Given the description of an element on the screen output the (x, y) to click on. 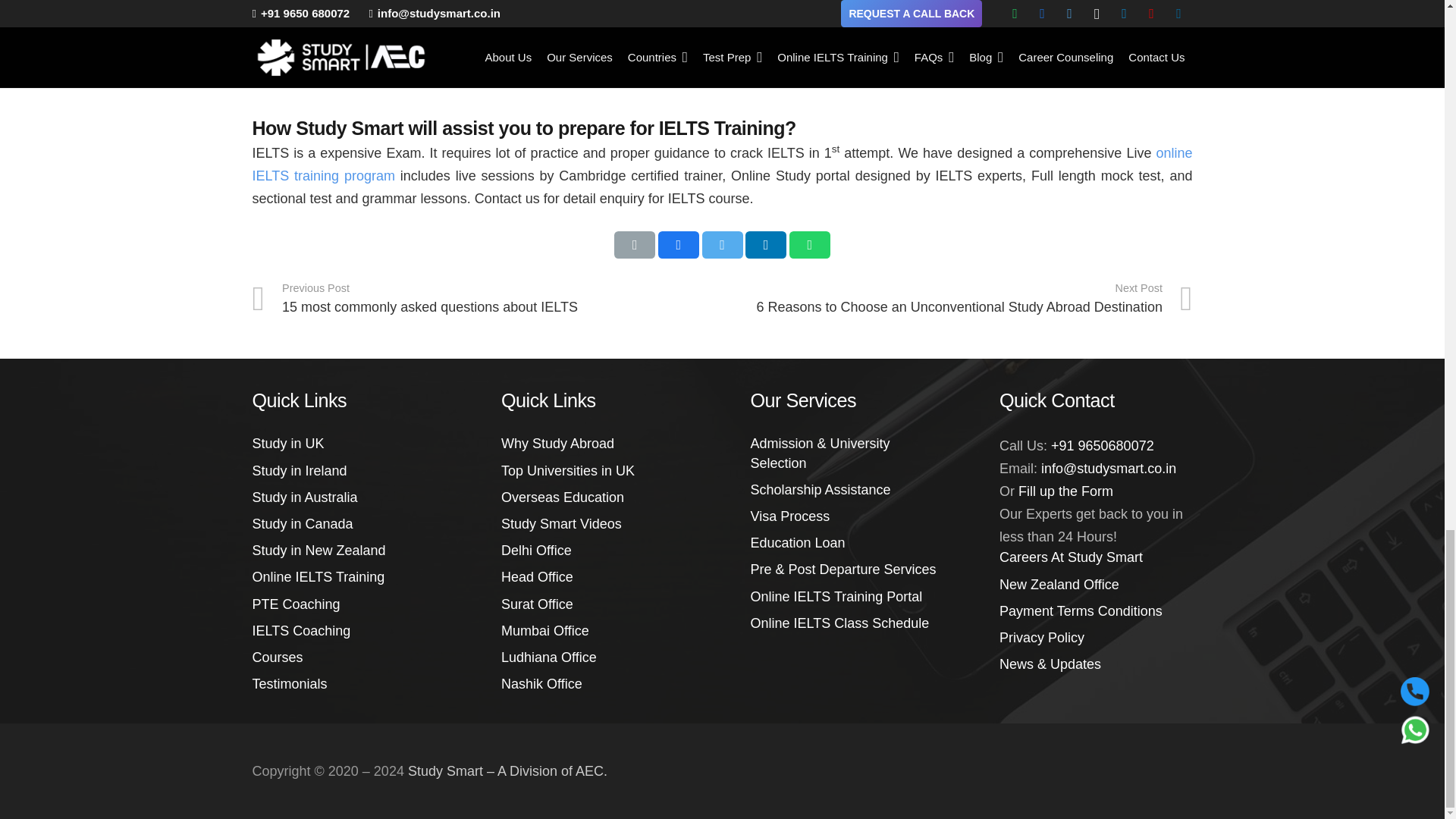
Share this (765, 244)
Share this (678, 244)
Share this (809, 244)
15 most commonly asked questions about IELTS (486, 298)
Email this (634, 244)
Tweet this (721, 244)
